Given the description of an element on the screen output the (x, y) to click on. 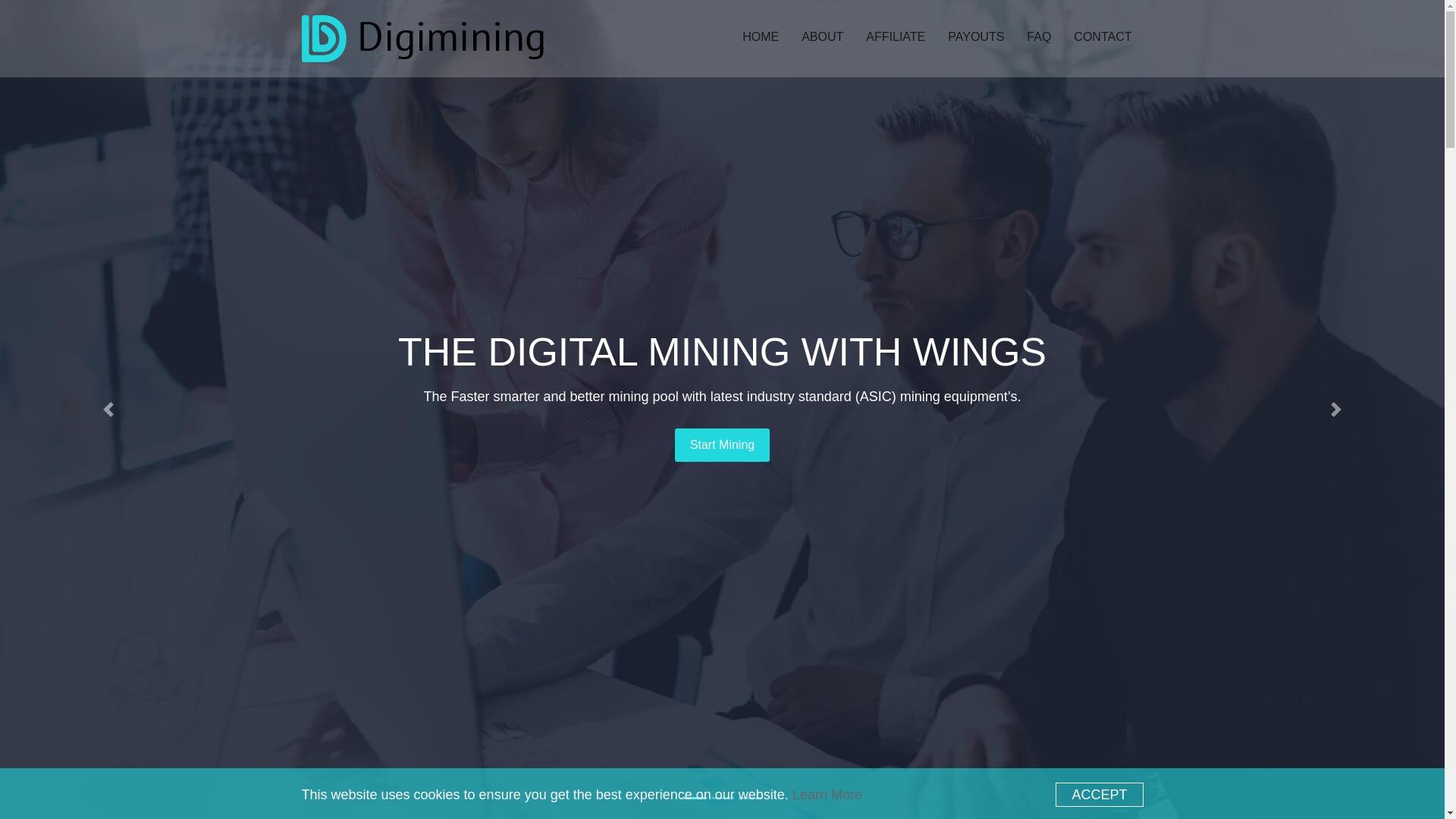
Start Mining (722, 444)
